Given the description of an element on the screen output the (x, y) to click on. 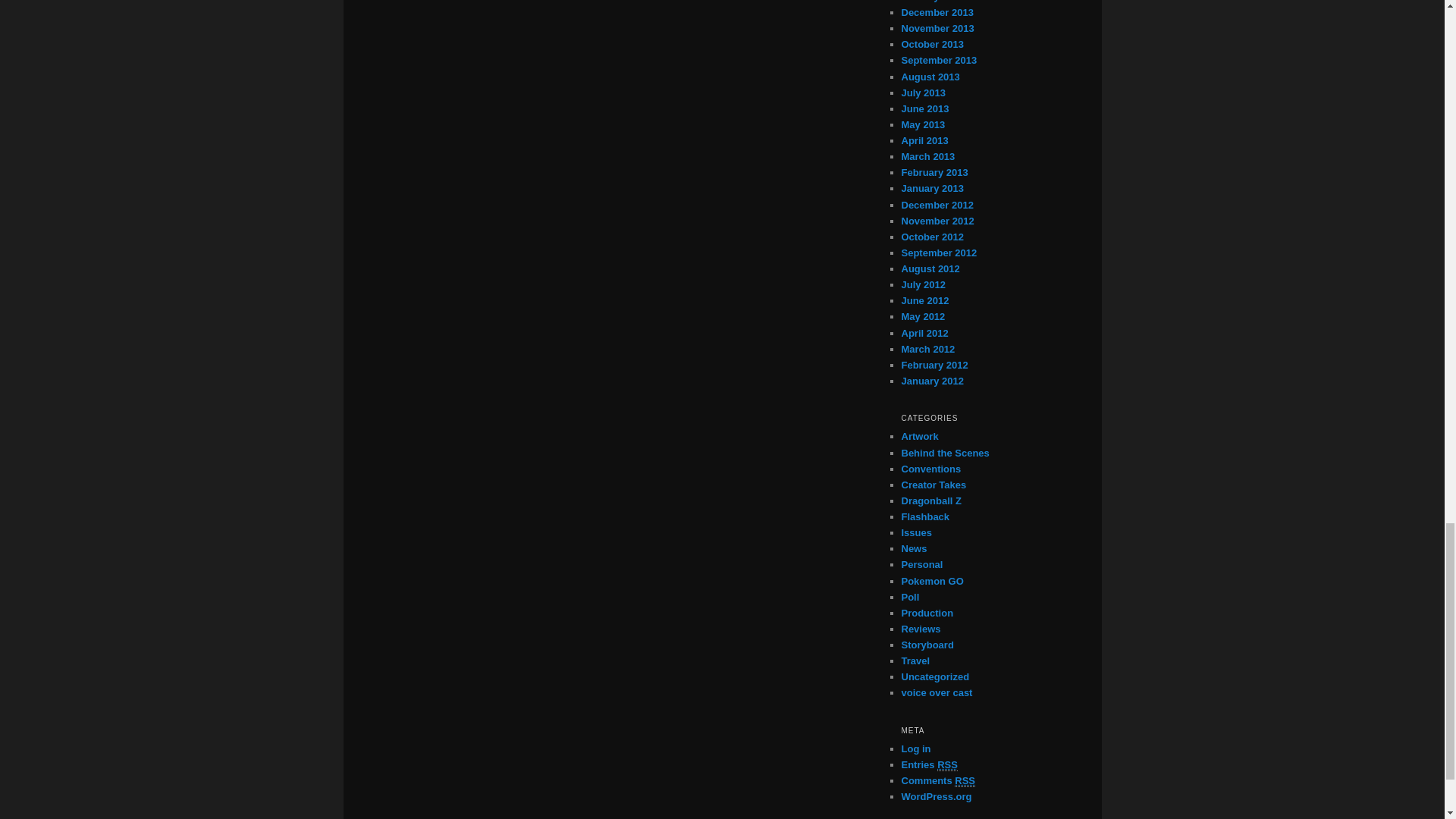
Really Simple Syndication (947, 765)
Really Simple Syndication (965, 780)
